Given the description of an element on the screen output the (x, y) to click on. 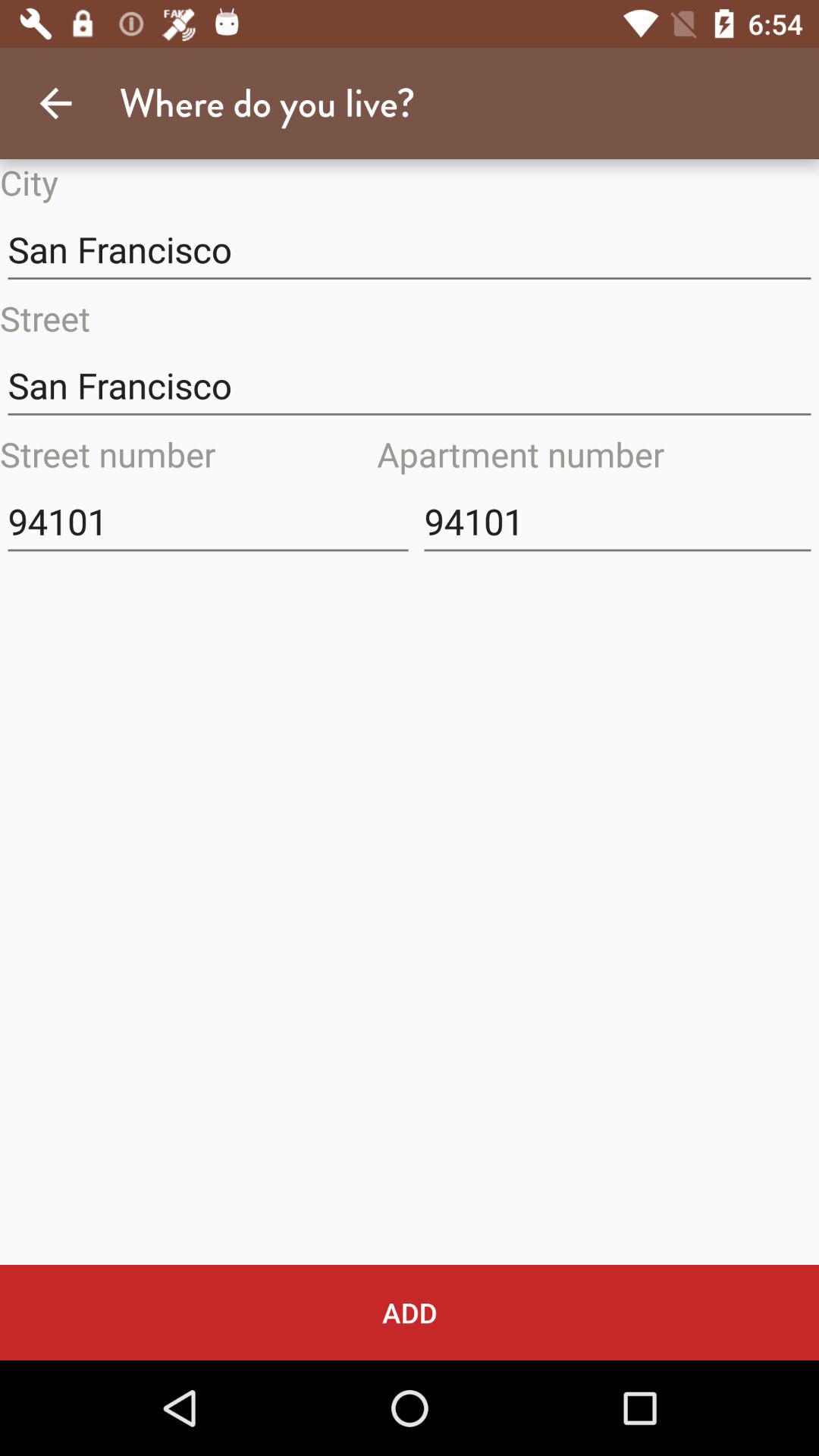
tap the add (409, 1312)
